Given the description of an element on the screen output the (x, y) to click on. 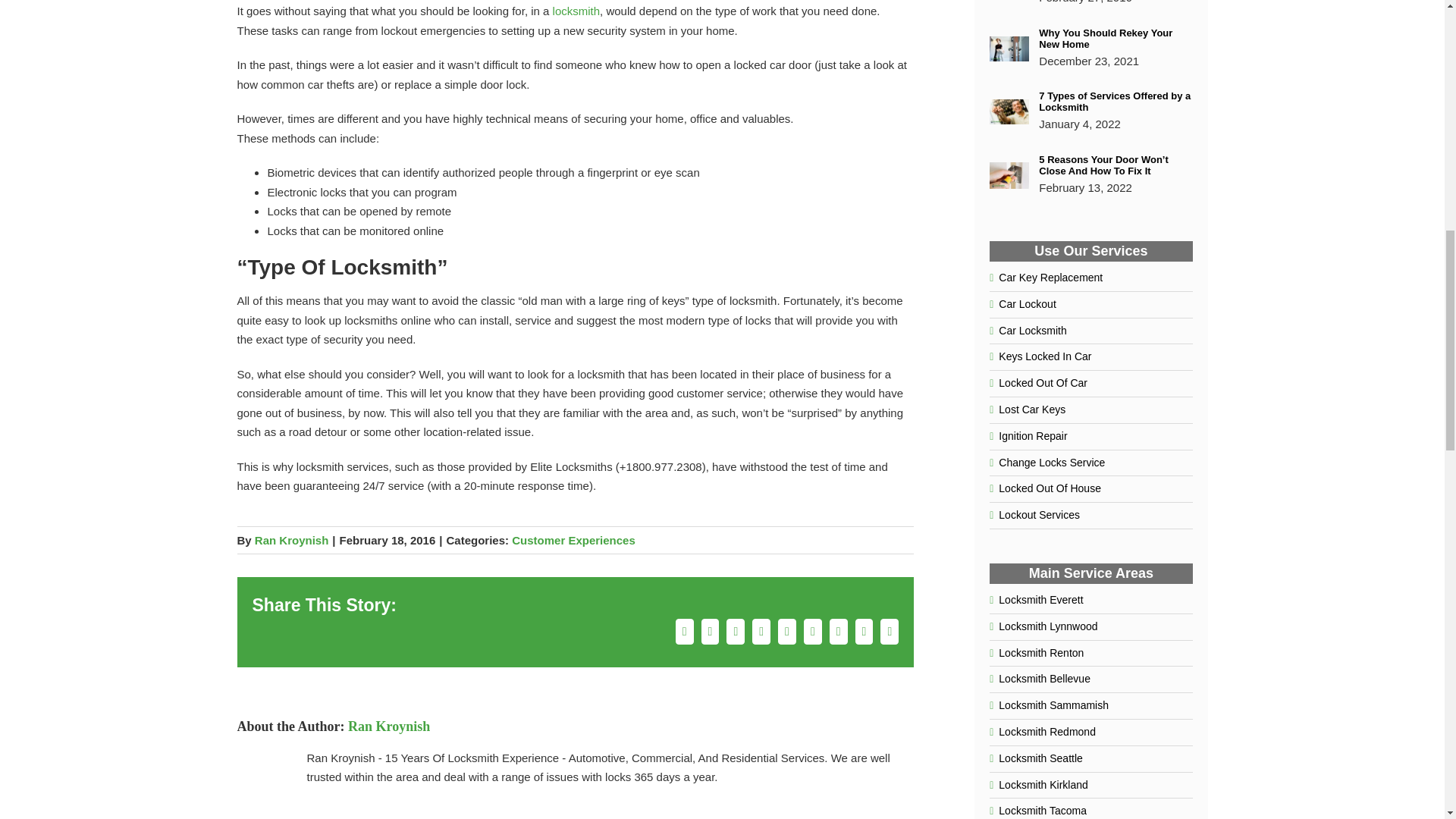
Posts by Ran Kroynish (388, 726)
Posts by Ran Kroynish (291, 540)
